Given the description of an element on the screen output the (x, y) to click on. 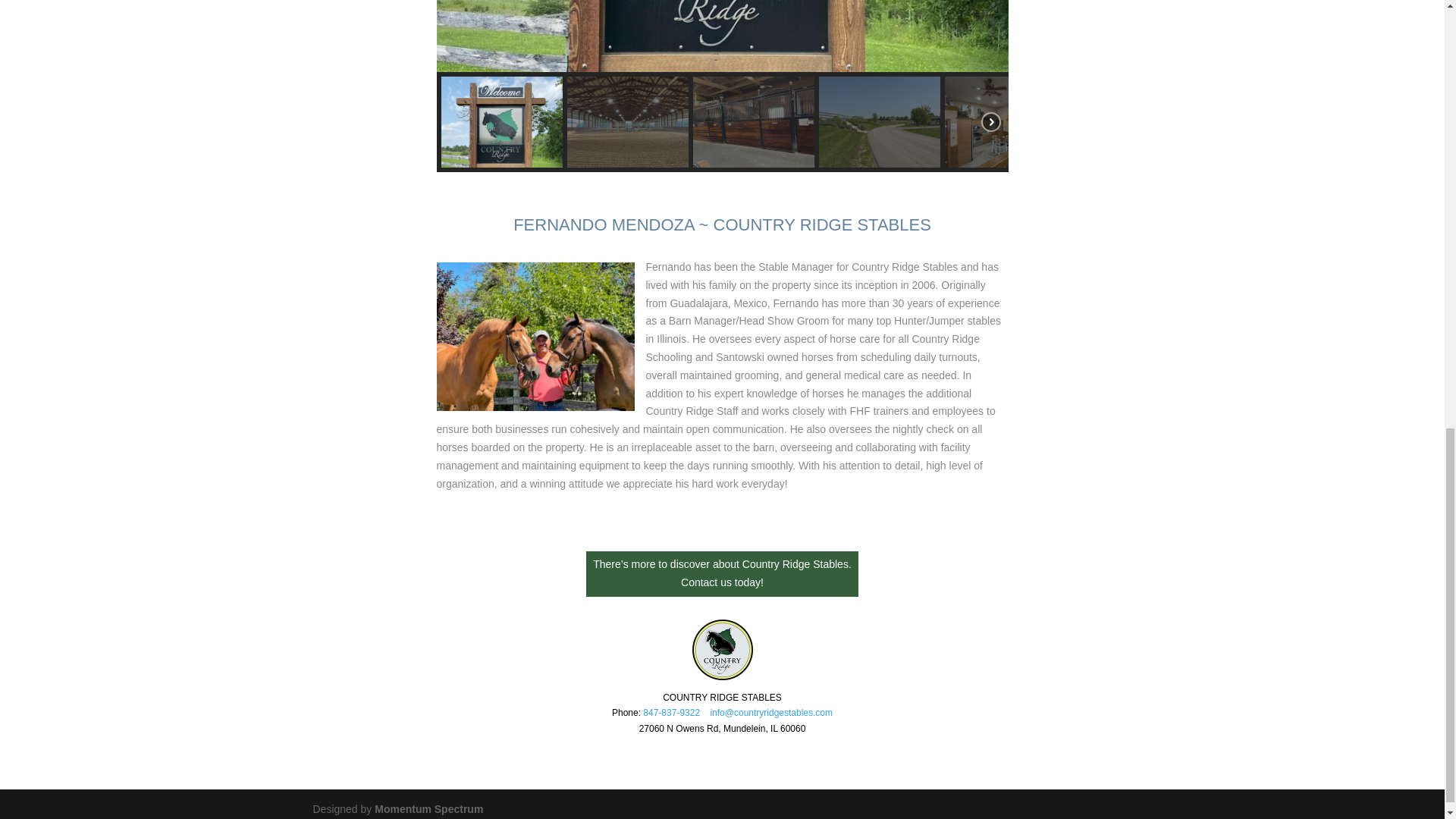
Momentum Spectrum (428, 808)
847-837-9322 (671, 712)
Country Ridge Stables (428, 808)
